Given the description of an element on the screen output the (x, y) to click on. 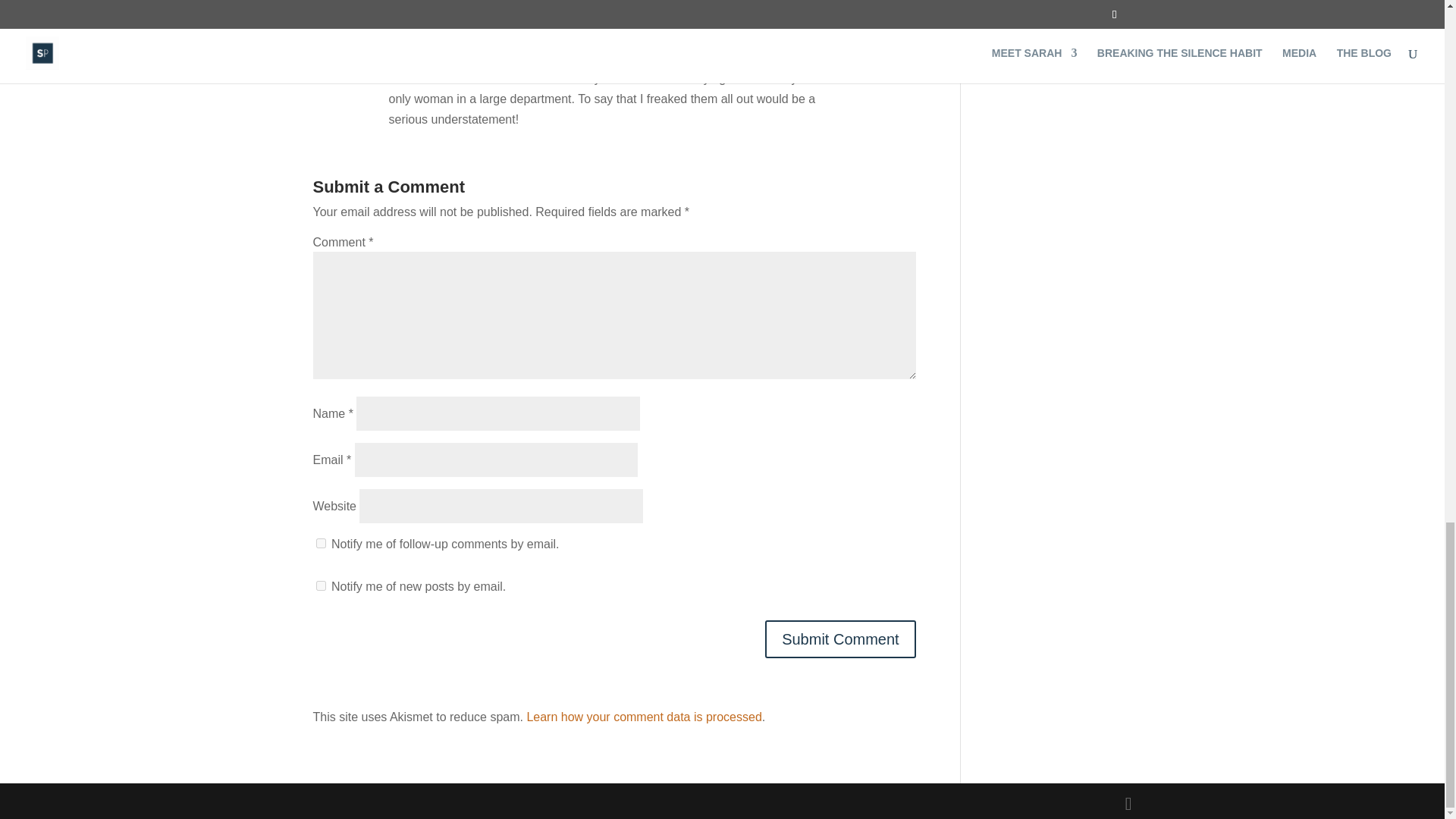
Reply (900, 55)
Hope (403, 50)
Submit Comment (840, 638)
Submit Comment (840, 638)
subscribe (319, 585)
Learn how your comment data is processed (643, 716)
subscribe (319, 542)
